Given the description of an element on the screen output the (x, y) to click on. 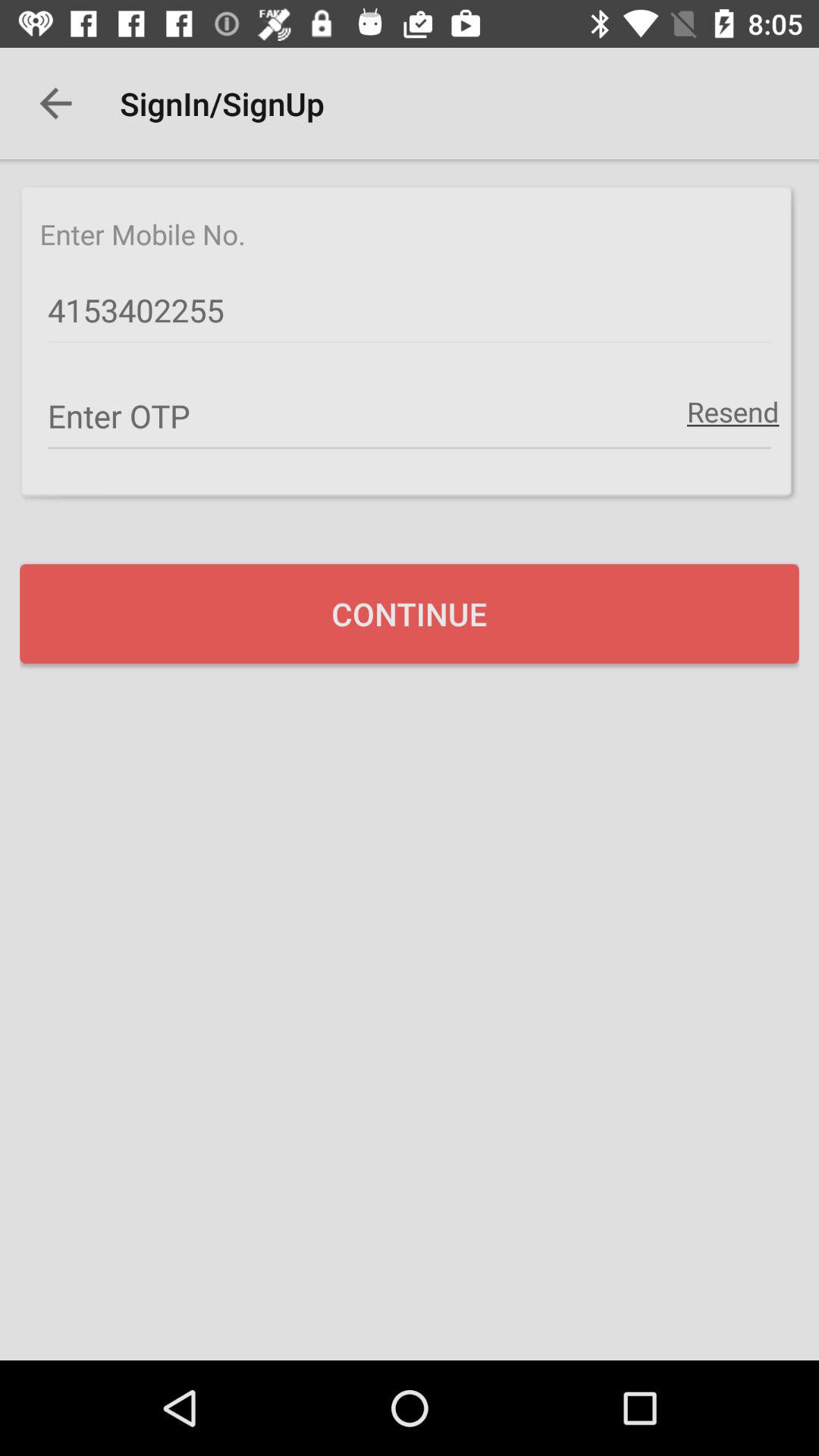
swipe until the continue (409, 613)
